Given the description of an element on the screen output the (x, y) to click on. 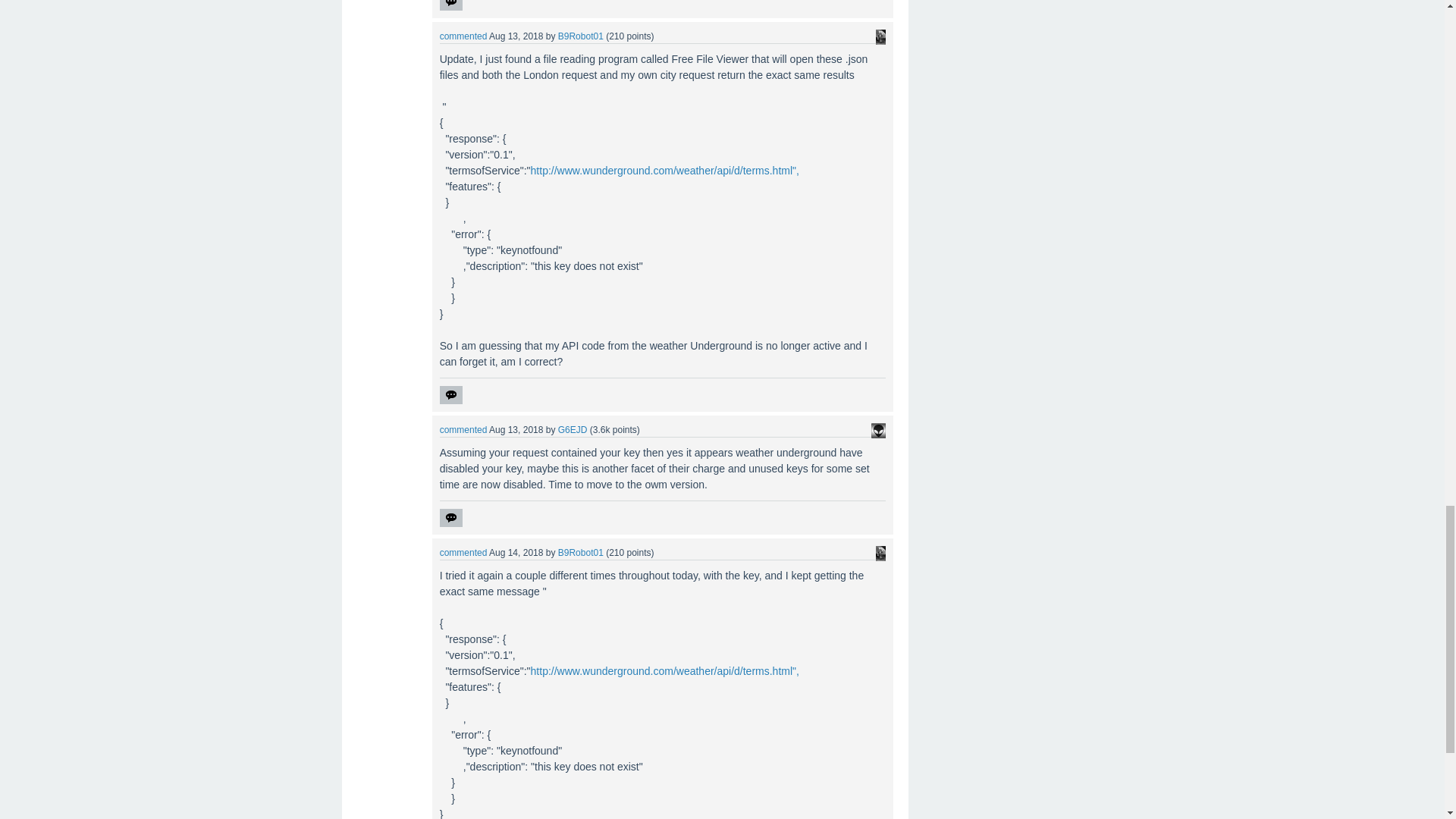
reply (451, 394)
reply (451, 5)
reply (451, 517)
